Given the description of an element on the screen output the (x, y) to click on. 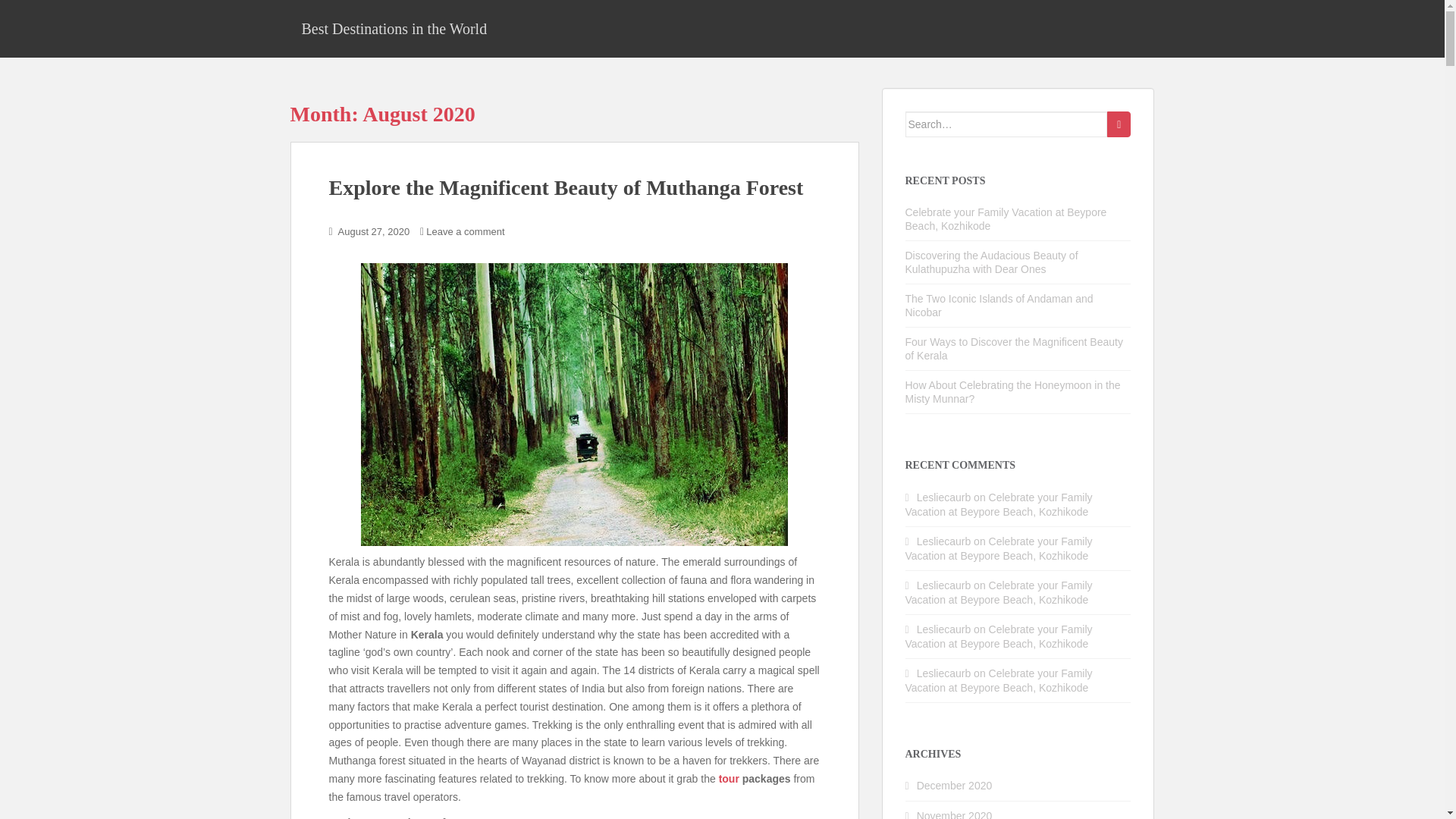
Search (1118, 124)
Best Destinations in the World (393, 28)
Celebrate your Family Vacation at Beypore Beach, Kozhikode (1005, 218)
Best Destinations in the World  (393, 28)
August 27, 2020 (373, 231)
Leave a comment (464, 231)
tour (729, 778)
Muthanga Forest (574, 404)
Explore the Magnificent Beauty of Muthanga Forest (566, 187)
